Given the description of an element on the screen output the (x, y) to click on. 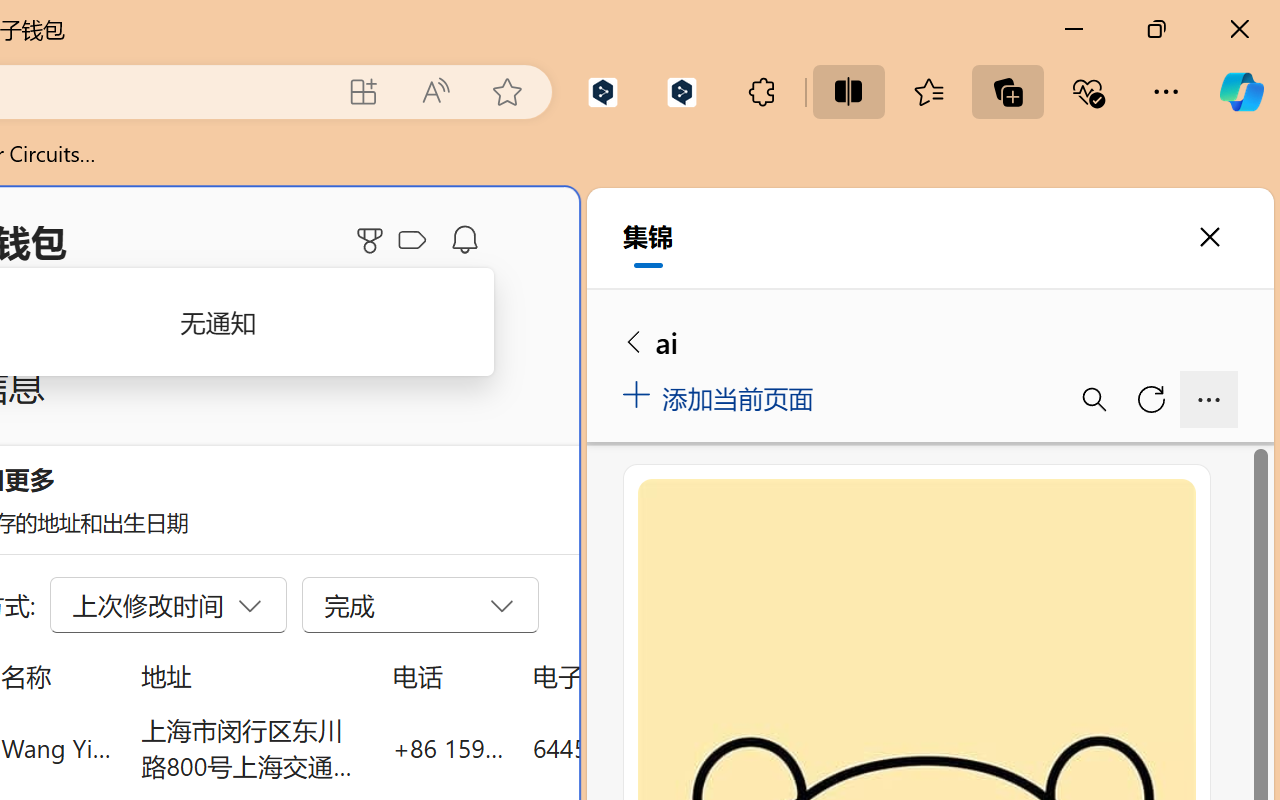
Copilot (Ctrl+Shift+.) (1241, 91)
+86 159 0032 4640 (447, 747)
Class: ___1lmltc5 f1agt3bx f12qytpq (411, 241)
